Given the description of an element on the screen output the (x, y) to click on. 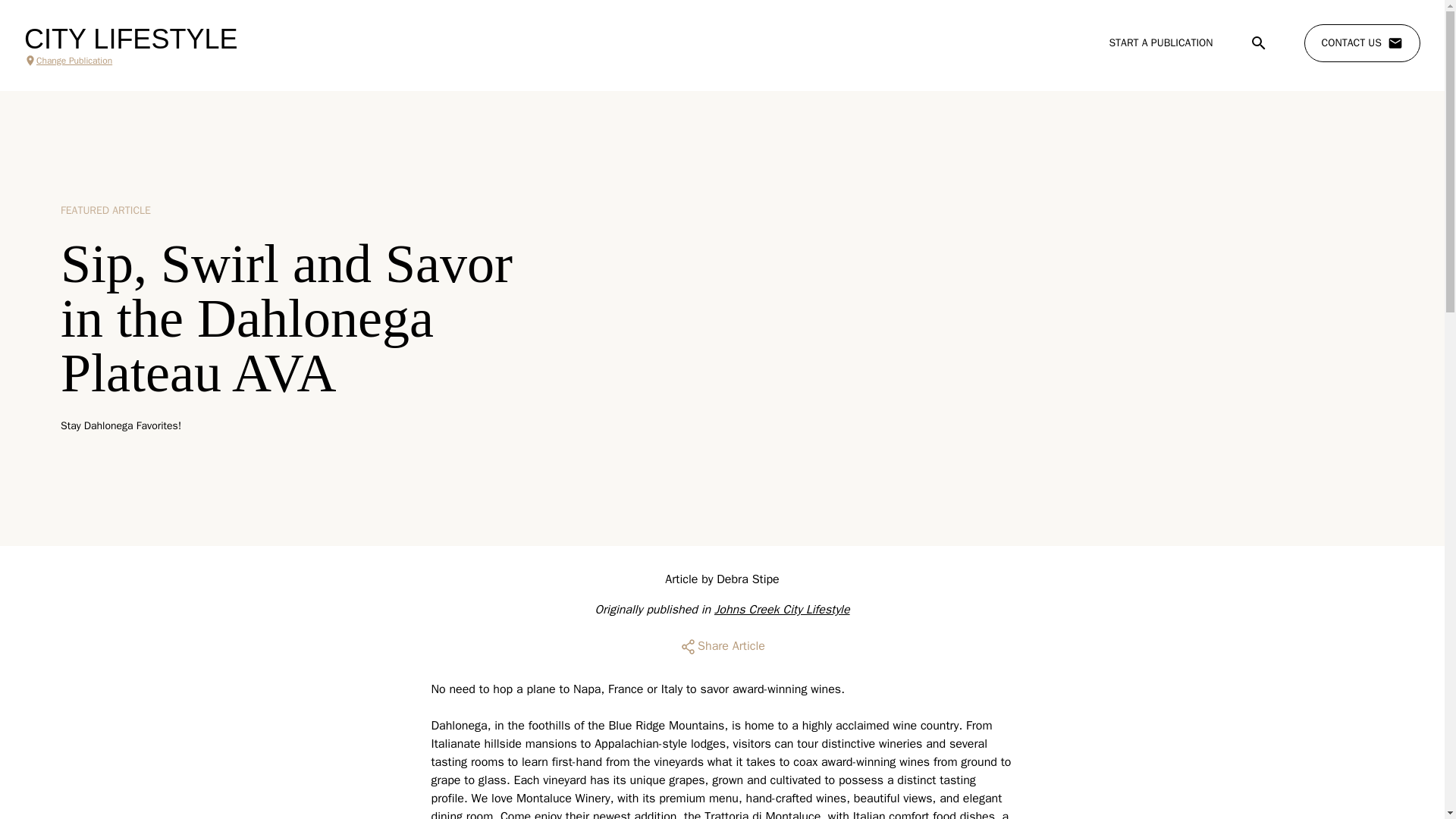
CITY LIFESTYLE (130, 39)
START A PUBLICATION (1160, 42)
Share Article (722, 646)
Johns Creek City Lifestyle (782, 609)
Change Publication (130, 60)
CONTACT US (1362, 43)
